Given the description of an element on the screen output the (x, y) to click on. 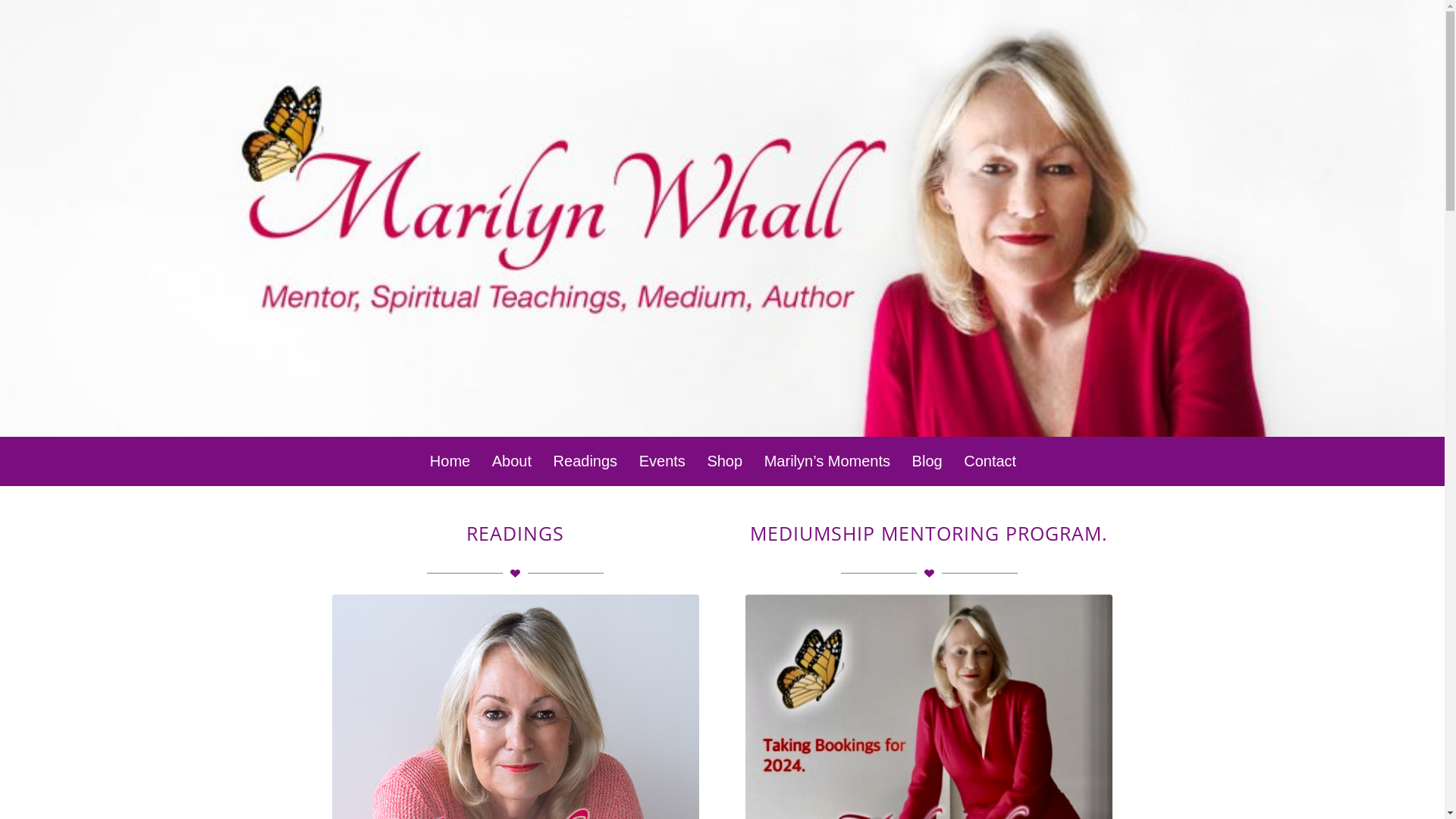
Events Element type: text (661, 460)
Blog Element type: text (926, 460)
Contact Element type: text (988, 460)
Shop Element type: text (722, 460)
About Element type: text (510, 460)
Readings Element type: text (584, 460)
Home Element type: text (448, 460)
